Given the description of an element on the screen output the (x, y) to click on. 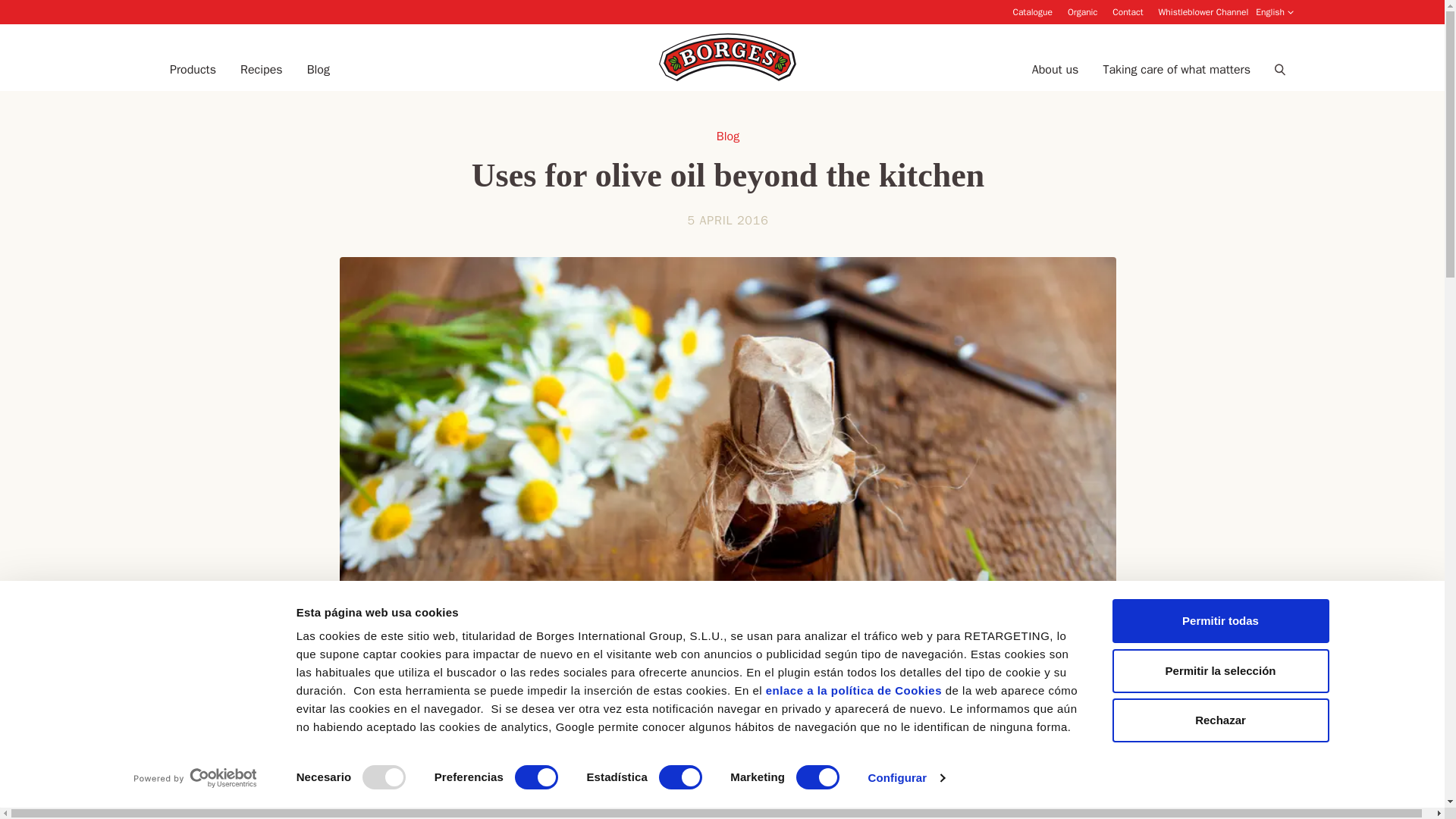
Rechazar (1219, 720)
Configurar (905, 777)
Permitir todas (1219, 620)
